Given the description of an element on the screen output the (x, y) to click on. 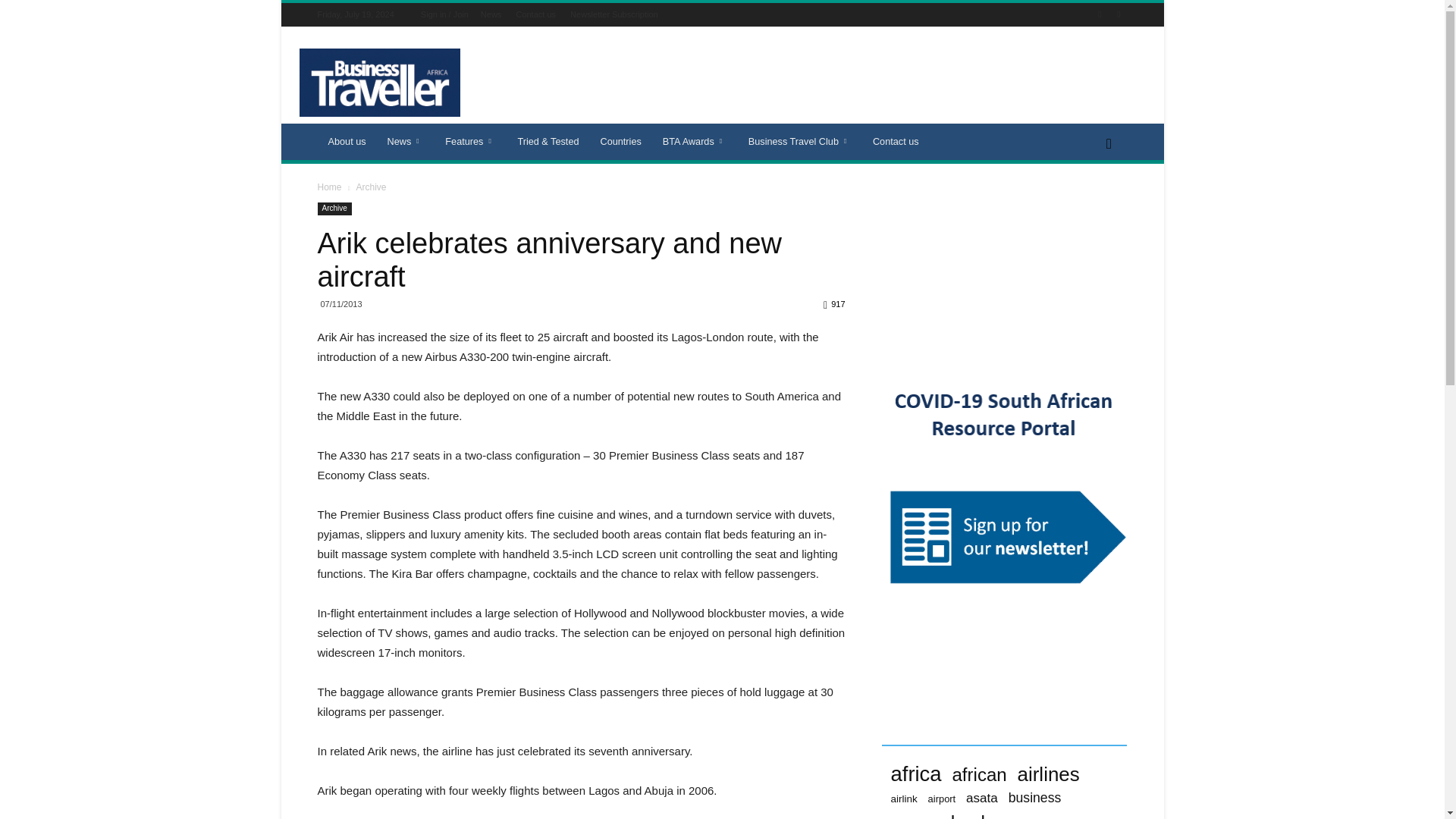
View all posts in Archive (370, 186)
News (491, 13)
YouTube video player (1003, 271)
News (406, 141)
Facebook (1099, 13)
Twitter (1117, 13)
Newsletter Subscription (614, 13)
Contact us (535, 13)
About us (346, 141)
